Given the description of an element on the screen output the (x, y) to click on. 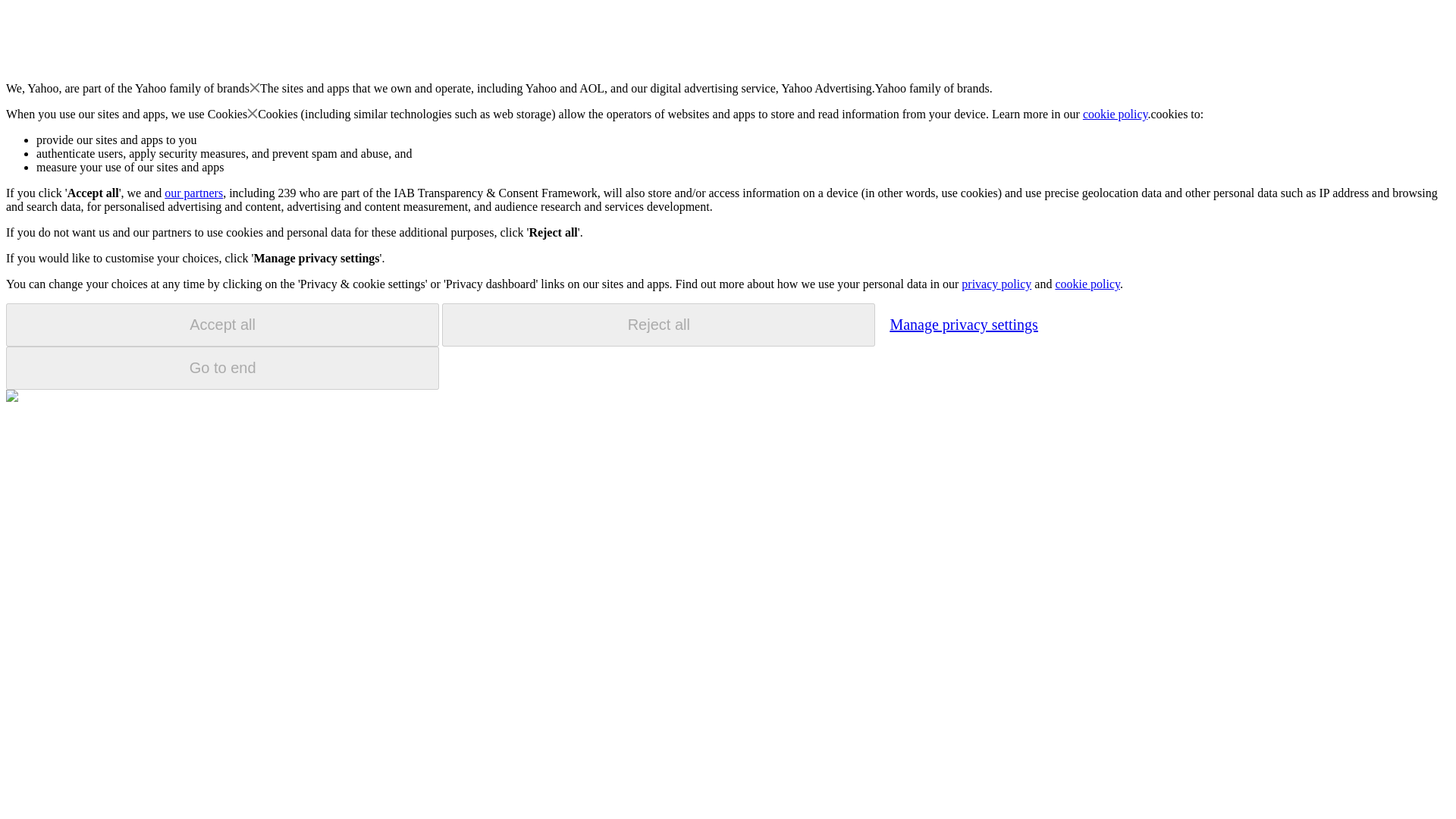
cookie policy (1115, 113)
Manage privacy settings (963, 323)
our partners (193, 192)
privacy policy (995, 283)
cookie policy (1086, 283)
Go to end (222, 367)
Accept all (222, 324)
Reject all (658, 324)
